Given the description of an element on the screen output the (x, y) to click on. 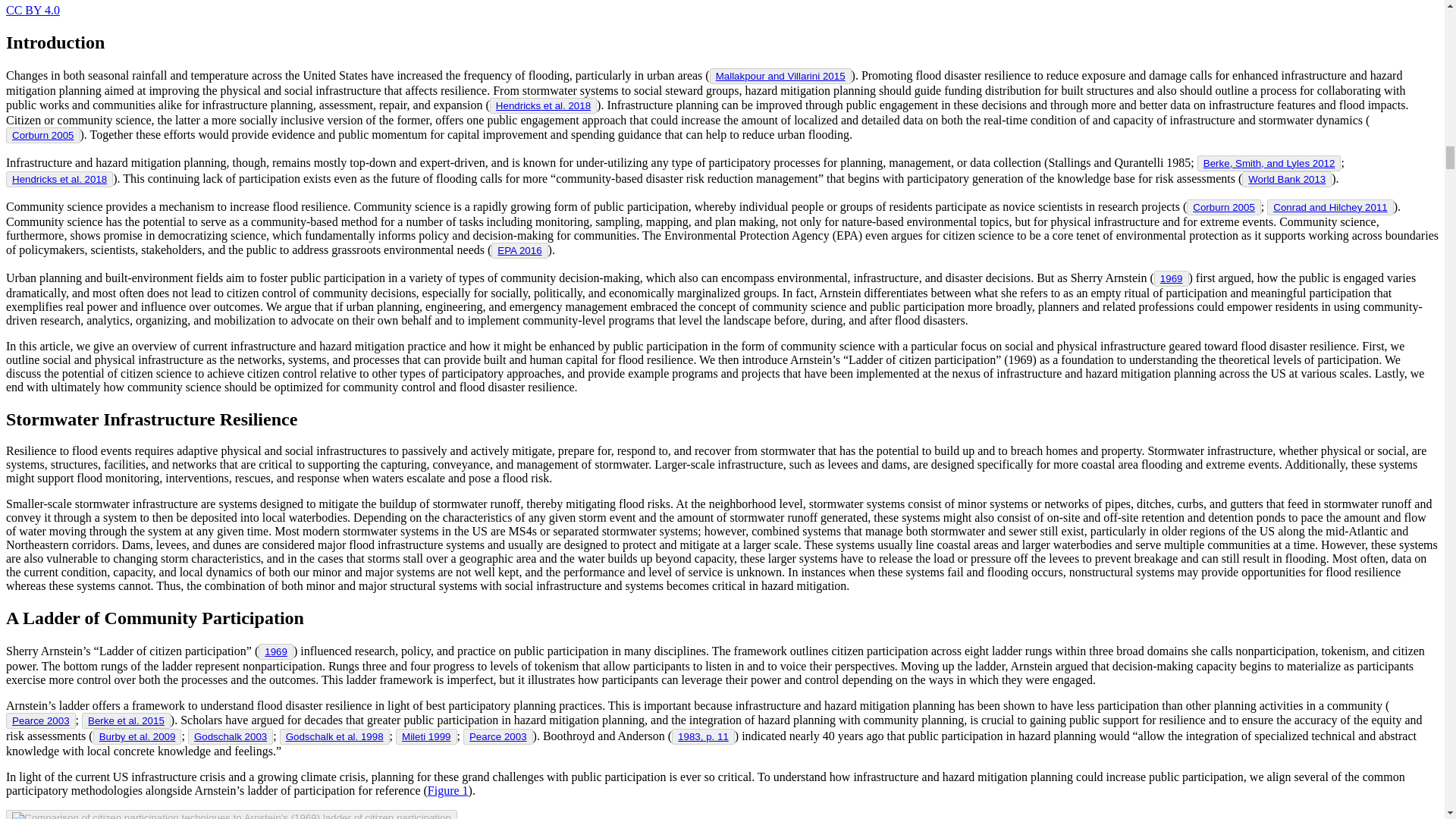
Corburn 2005 (1223, 206)
1969 (275, 651)
Berke et al. 2015 (125, 720)
1983, p. 11 (703, 736)
Conrad and Hilchey 2011 (1329, 206)
Godschalk et al. 1998 (334, 736)
Pearce 2003 (40, 720)
Corburn 2005 (42, 134)
Mallakpour and Villarini 2015 (780, 75)
World Bank 2013 (1285, 179)
Burby et al. 2009 (137, 736)
Hendricks et al. 2018 (543, 105)
1969 (1171, 278)
Mileti 1999 (425, 736)
Berke, Smith, and Lyles 2012 (1269, 163)
